Given the description of an element on the screen output the (x, y) to click on. 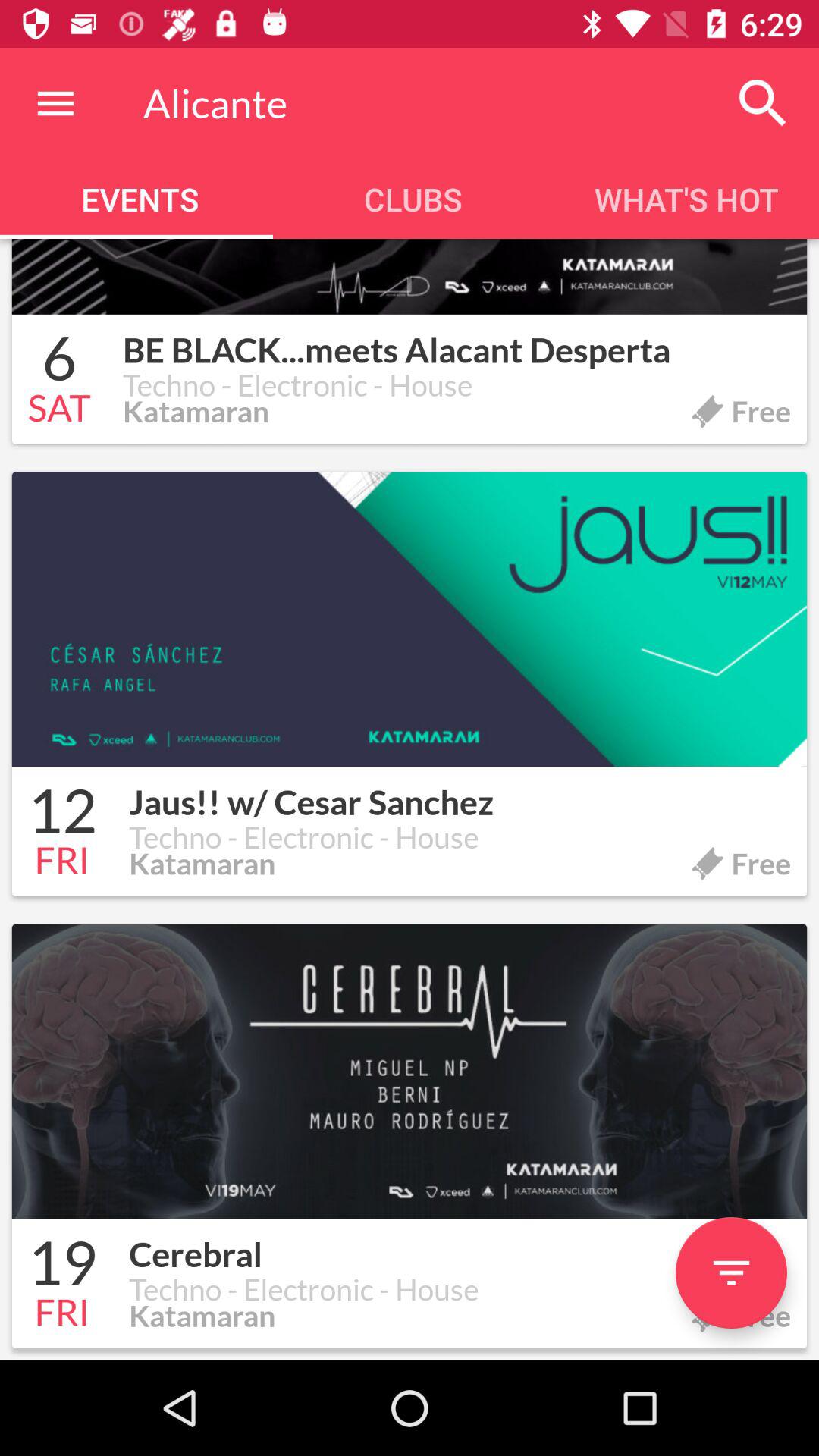
select the icon next to the 12 item (460, 793)
